Given the description of an element on the screen output the (x, y) to click on. 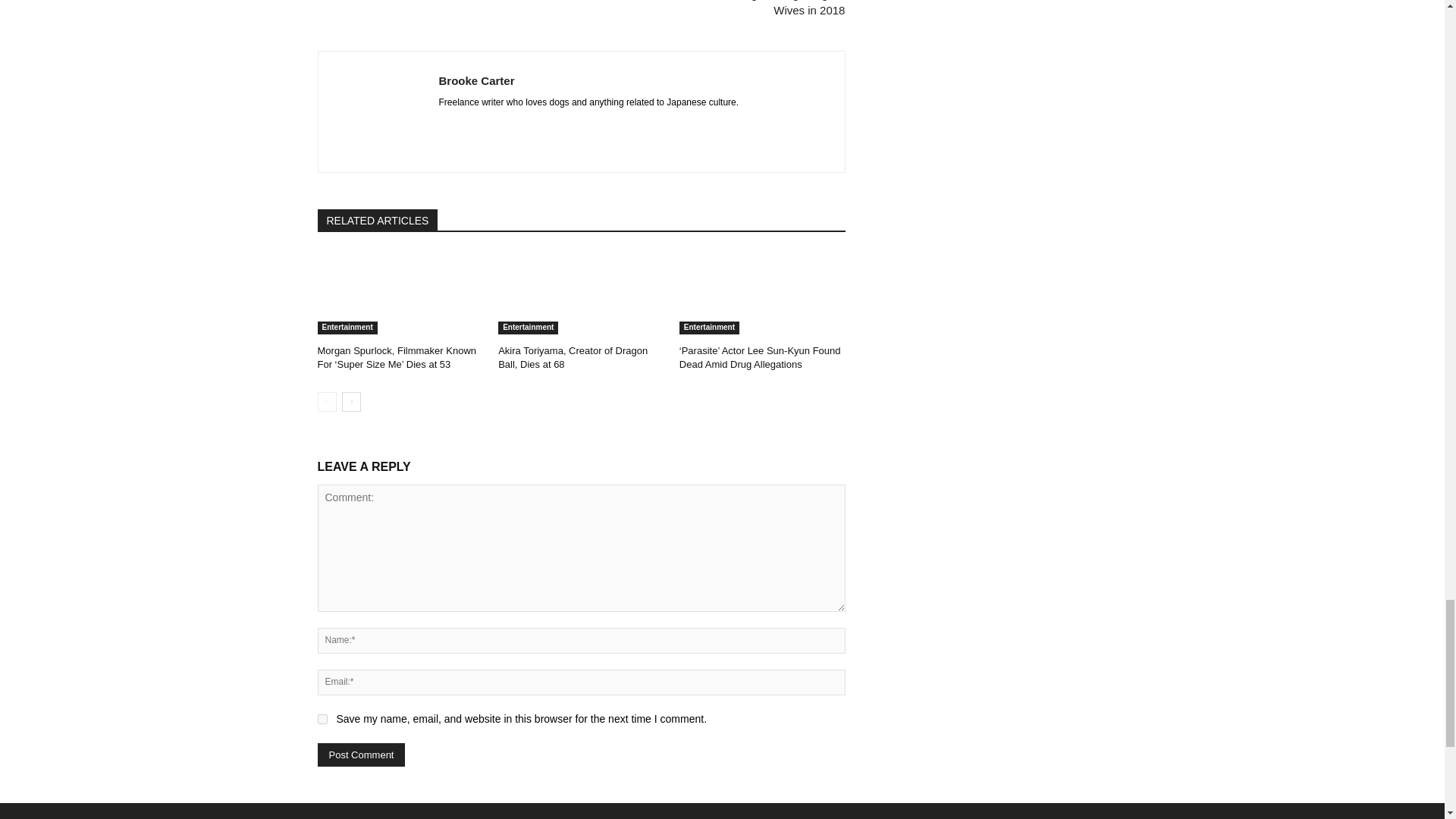
Post Comment (360, 754)
yes (321, 718)
